Given the description of an element on the screen output the (x, y) to click on. 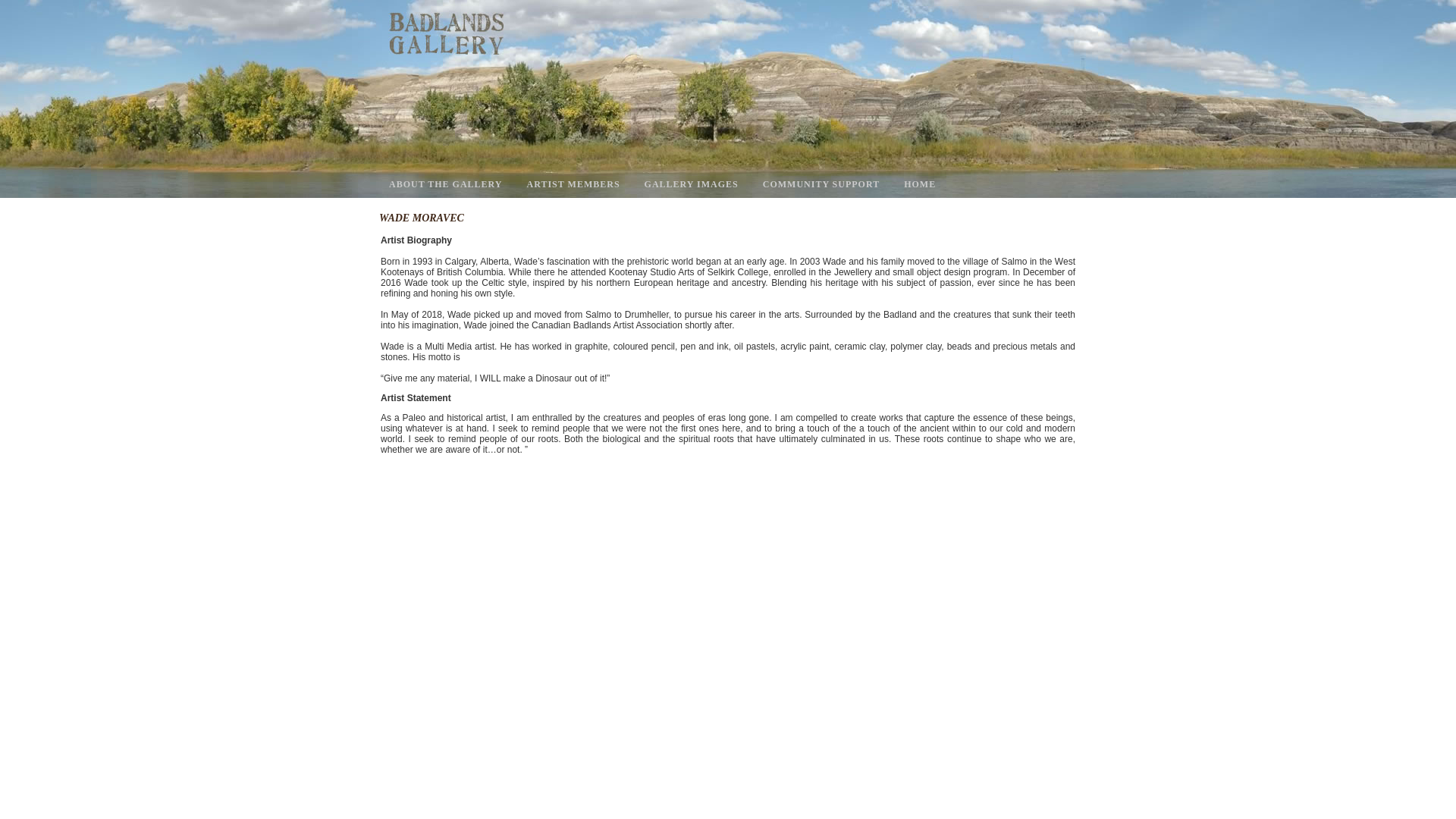
ABOUT THE GALLERY Element type: text (448, 184)
HOME Element type: text (922, 184)
ARTIST MEMBERS Element type: text (576, 184)
COMMUNITY SUPPORT Element type: text (823, 184)
GALLERY IMAGES Element type: text (694, 184)
